Given the description of an element on the screen output the (x, y) to click on. 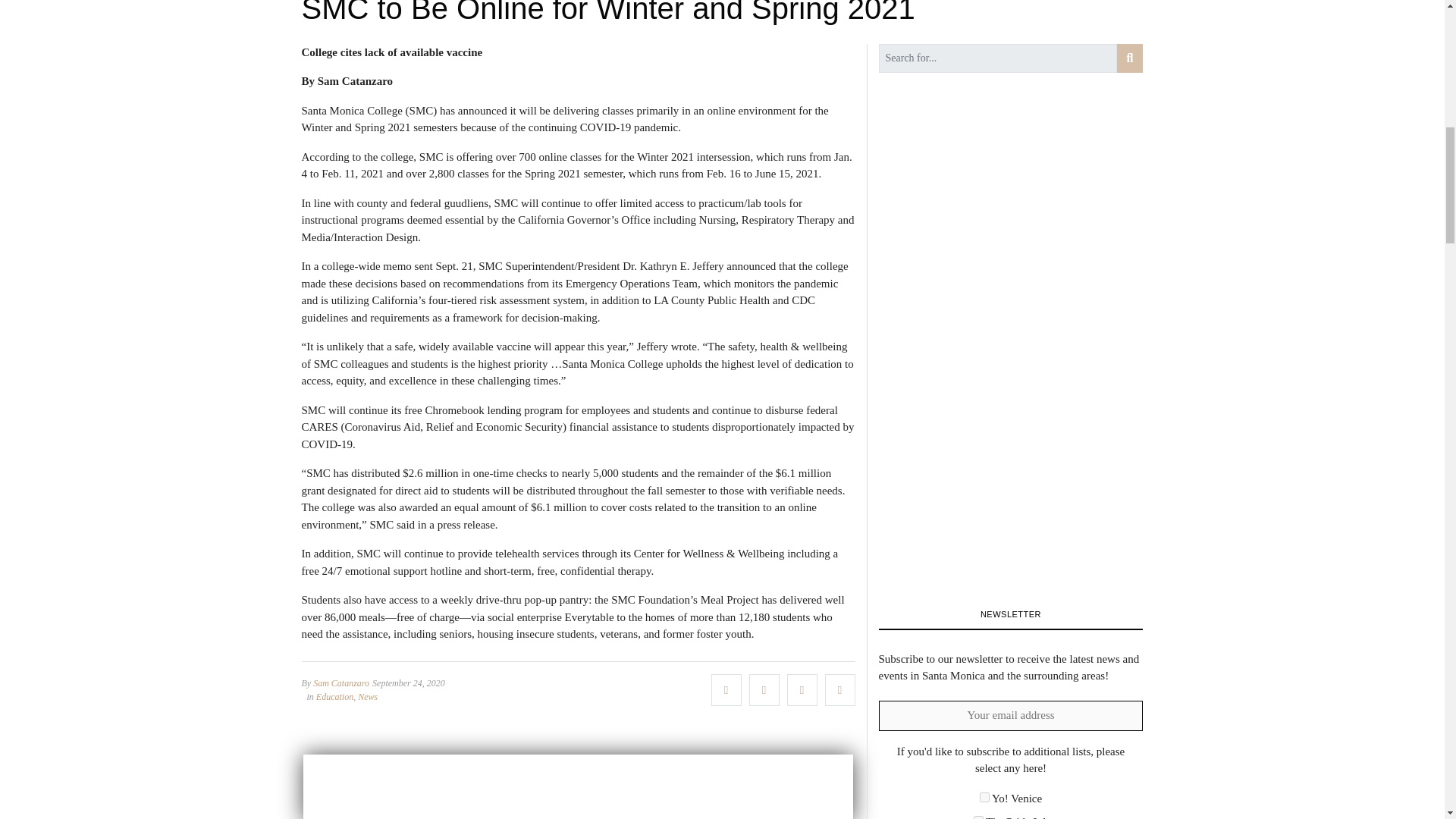
Education (334, 696)
2c616d28b5 (984, 797)
33f79e7e4d (979, 817)
News (367, 696)
3rd party ad content (577, 786)
Sam Catanzaro (341, 683)
Posts by Sam Catanzaro (341, 683)
